Given the description of an element on the screen output the (x, y) to click on. 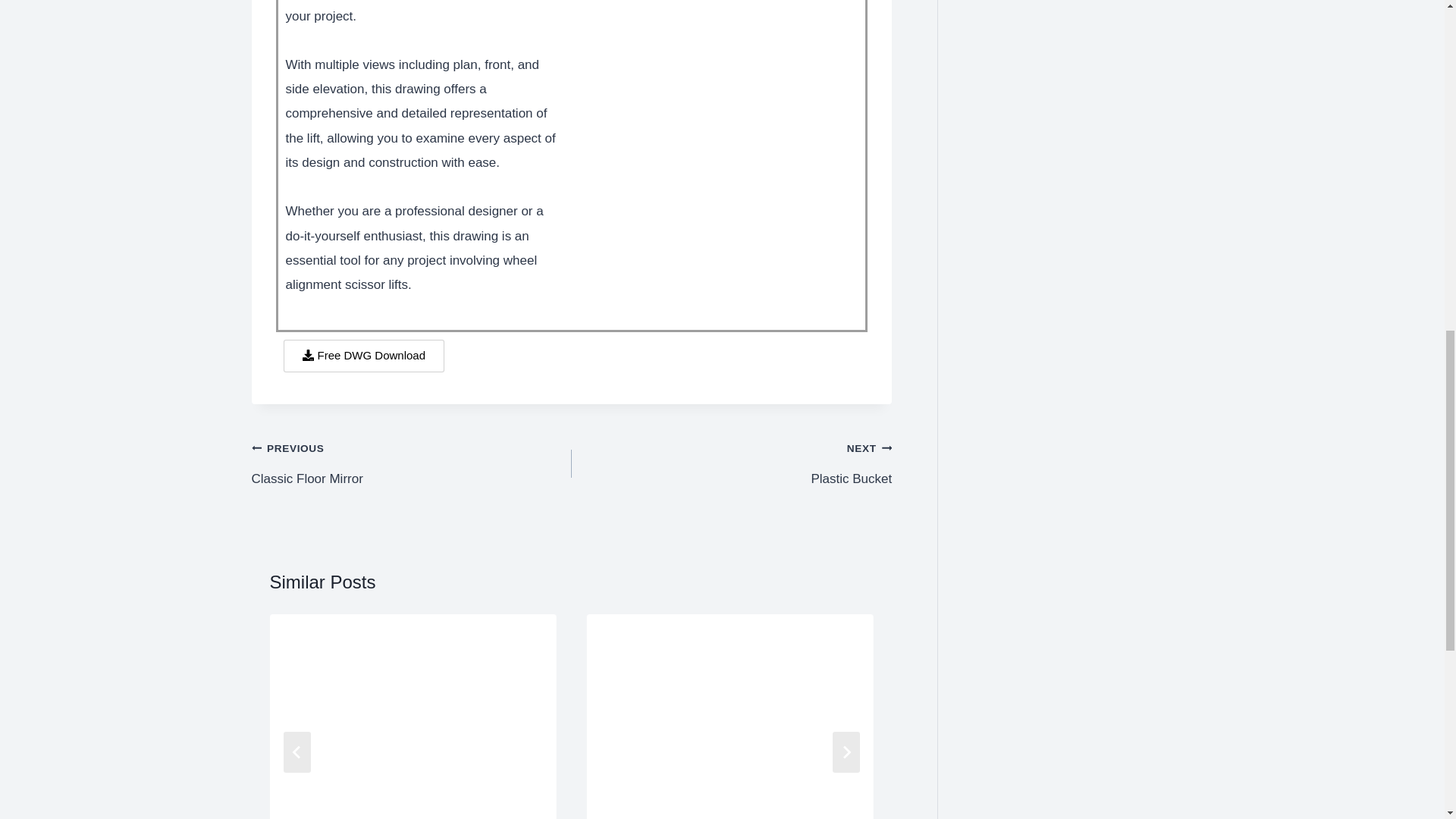
school bus min scaled (412, 709)
stacked stones (729, 709)
Free DWG Download (731, 463)
